Given the description of an element on the screen output the (x, y) to click on. 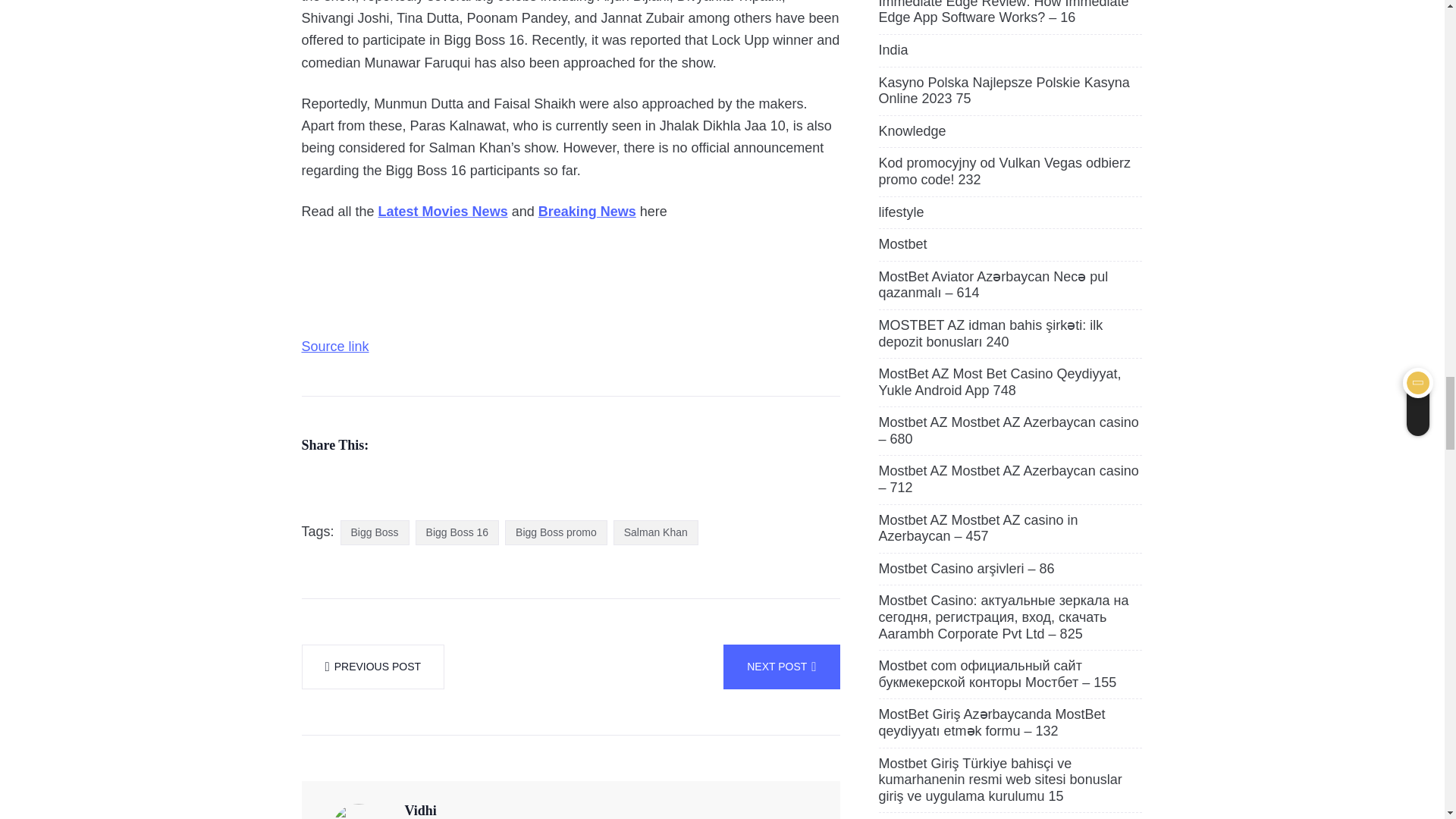
Source link (335, 346)
Latest Movies News (443, 211)
Breaking News (587, 211)
